Given the description of an element on the screen output the (x, y) to click on. 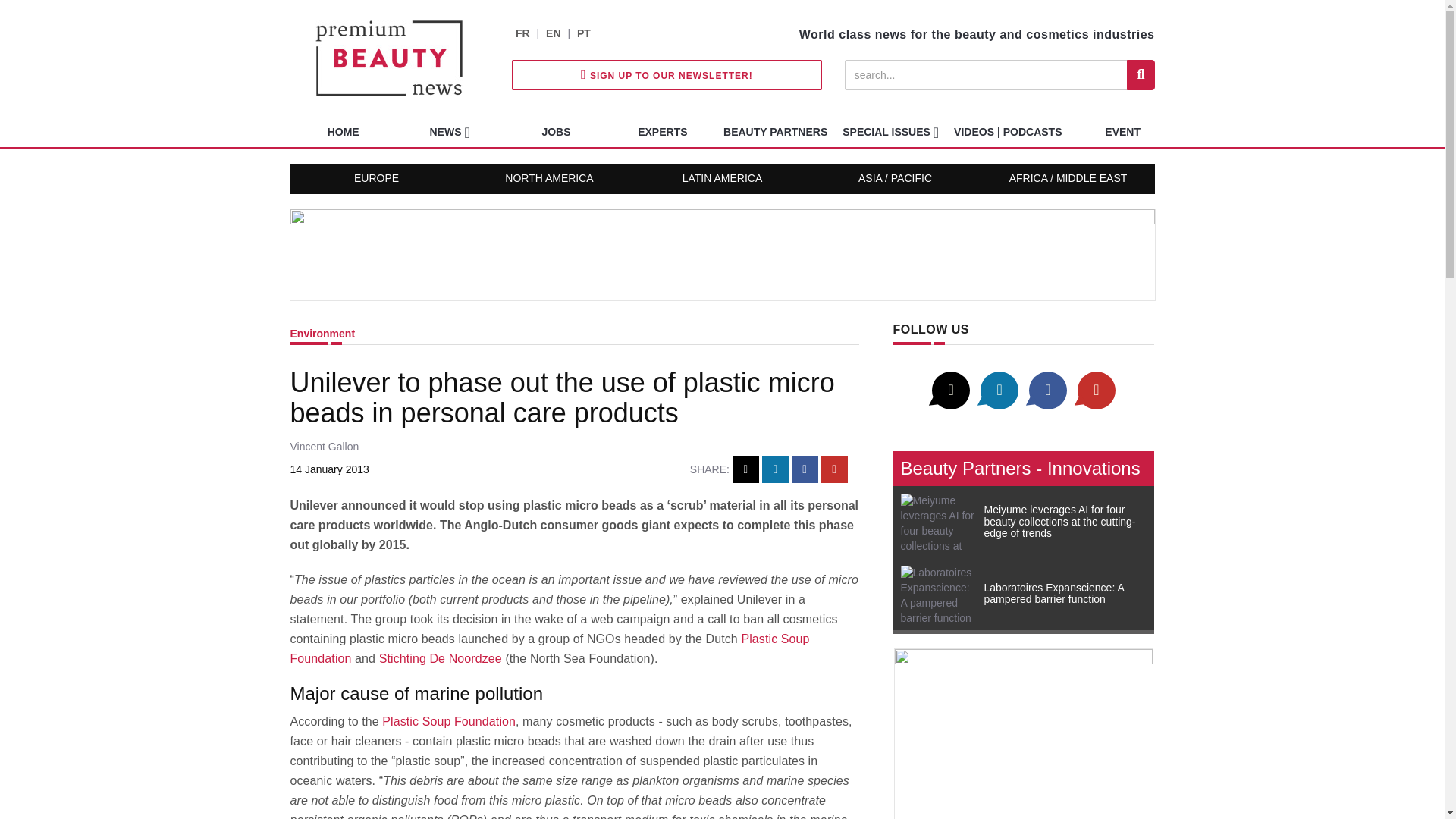
FR (522, 33)
EN (553, 33)
NEWS (449, 132)
PT (583, 33)
SIGN UP TO OUR NEWSLETTER! (667, 74)
HOME (342, 132)
